Given the description of an element on the screen output the (x, y) to click on. 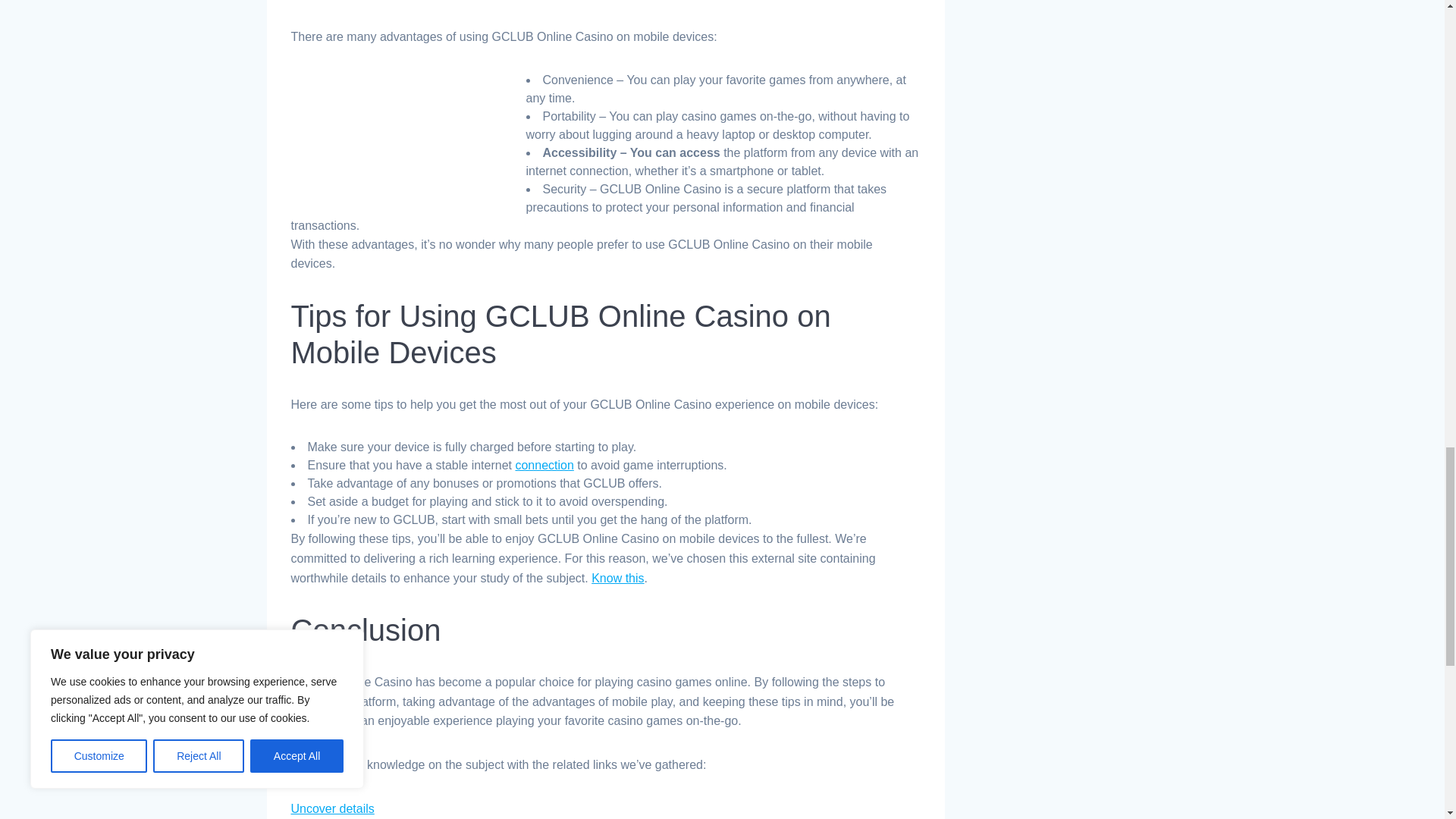
Know this (617, 577)
Uncover details (332, 808)
connection (544, 464)
